Given the description of an element on the screen output the (x, y) to click on. 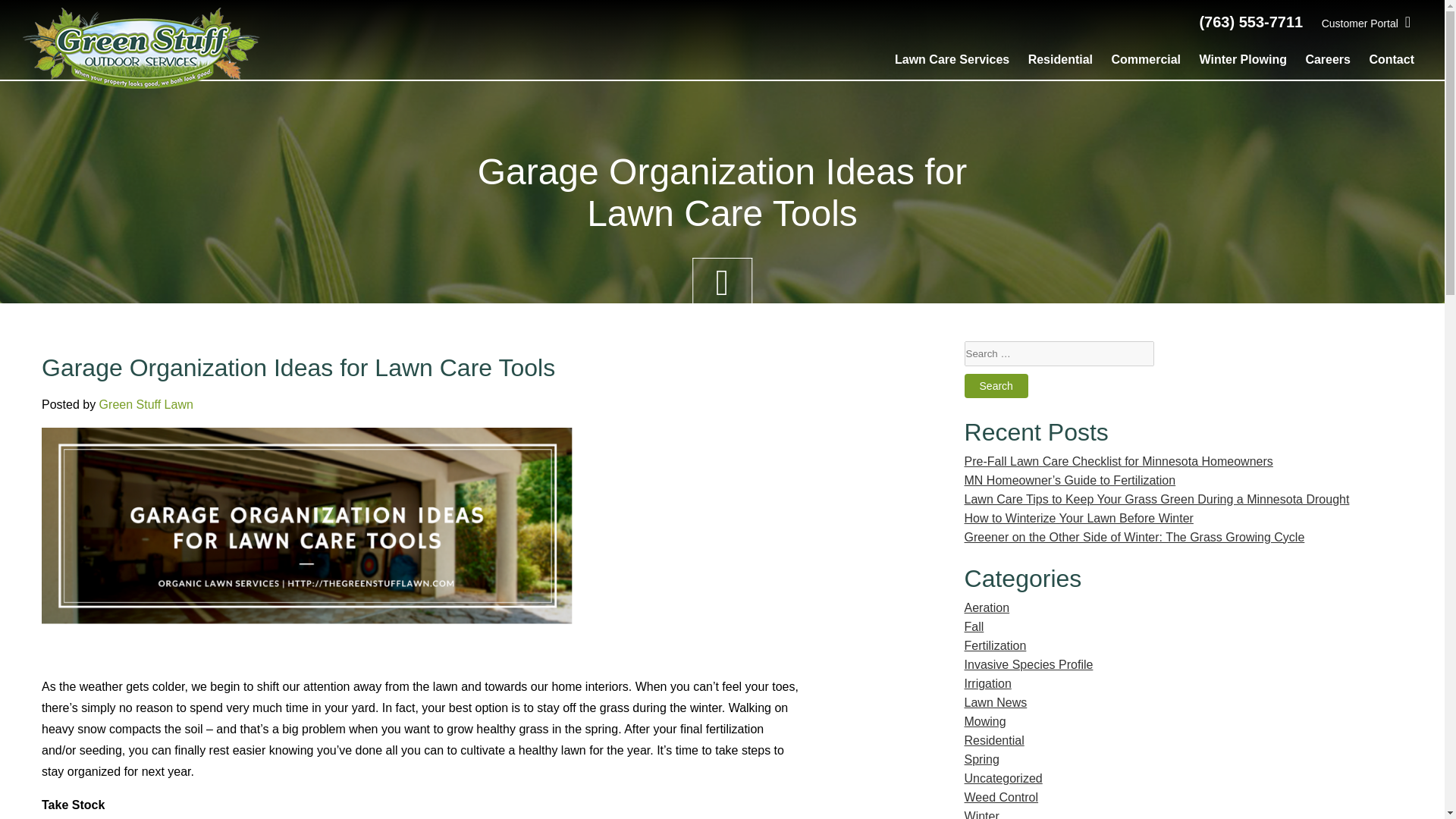
Aeration (986, 607)
Invasive Species Profile (1028, 664)
Fall (973, 626)
Fertilization (994, 645)
Winter Plowing (1243, 59)
Winter (980, 814)
Irrigation (987, 683)
Residential (994, 739)
Weed Control (1001, 797)
Pre-Fall Lawn Care Checklist for Minnesota Homeowners (1117, 461)
